Given the description of an element on the screen output the (x, y) to click on. 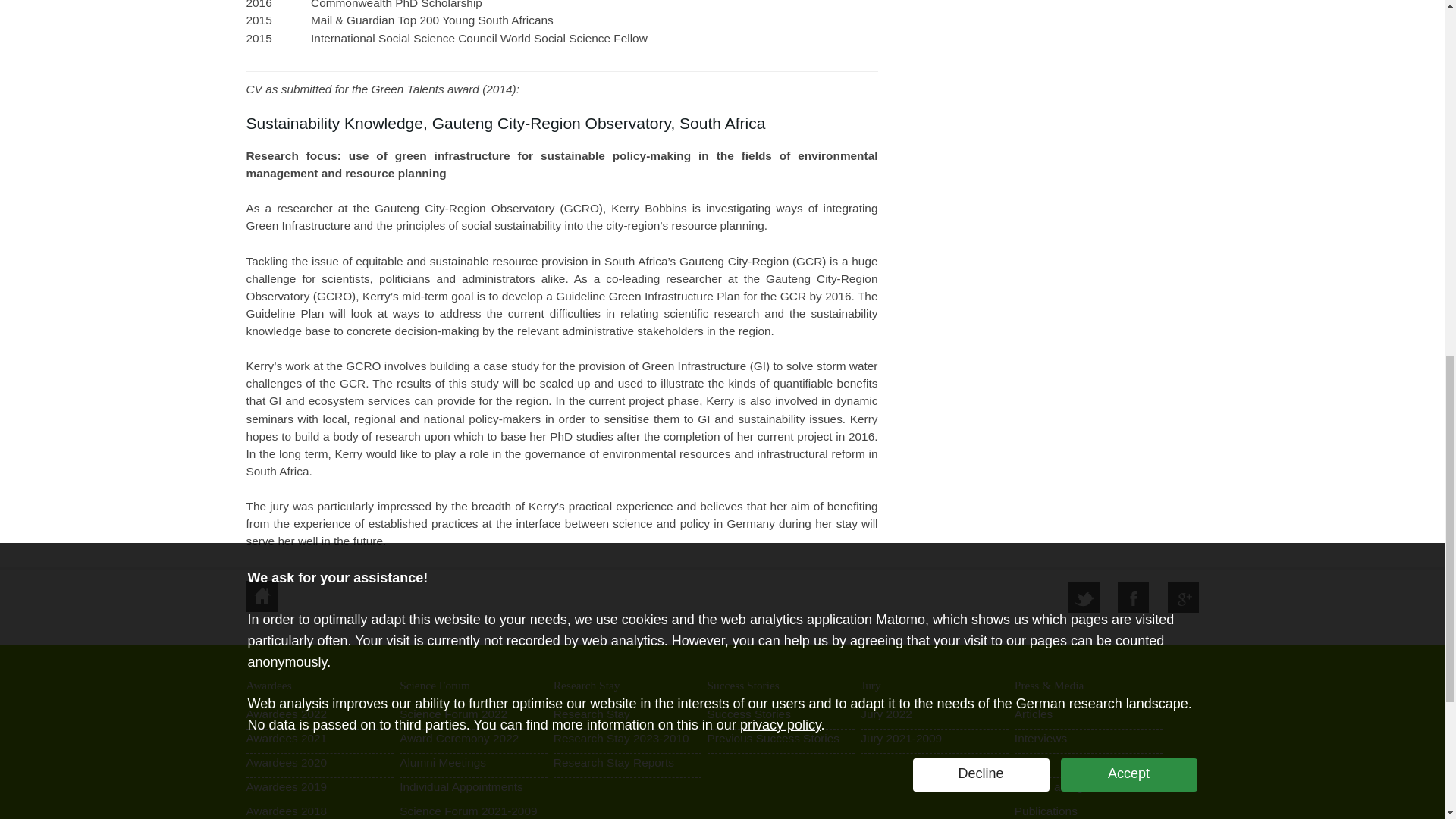
Share on Twitter (1083, 597)
Share on Facebook (1133, 597)
